Given the description of an element on the screen output the (x, y) to click on. 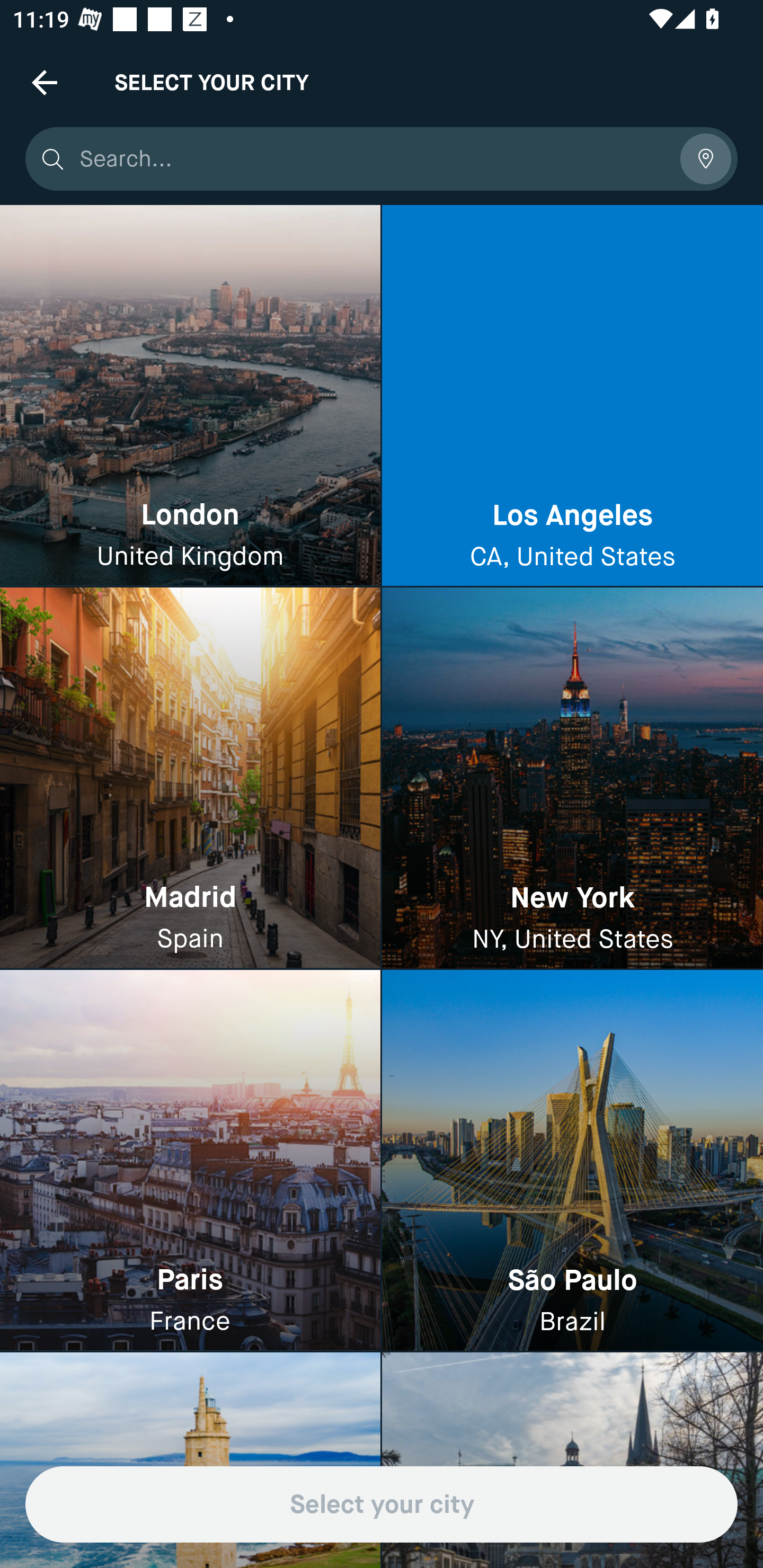
Navigate up (44, 82)
Search... (373, 159)
London United Kingdom (190, 395)
Los Angeles CA, United States (572, 395)
Madrid Spain (190, 778)
New York NY, United States (572, 778)
Paris France (190, 1160)
São Paulo Brazil (572, 1160)
Select your city (381, 1504)
